Given the description of an element on the screen output the (x, y) to click on. 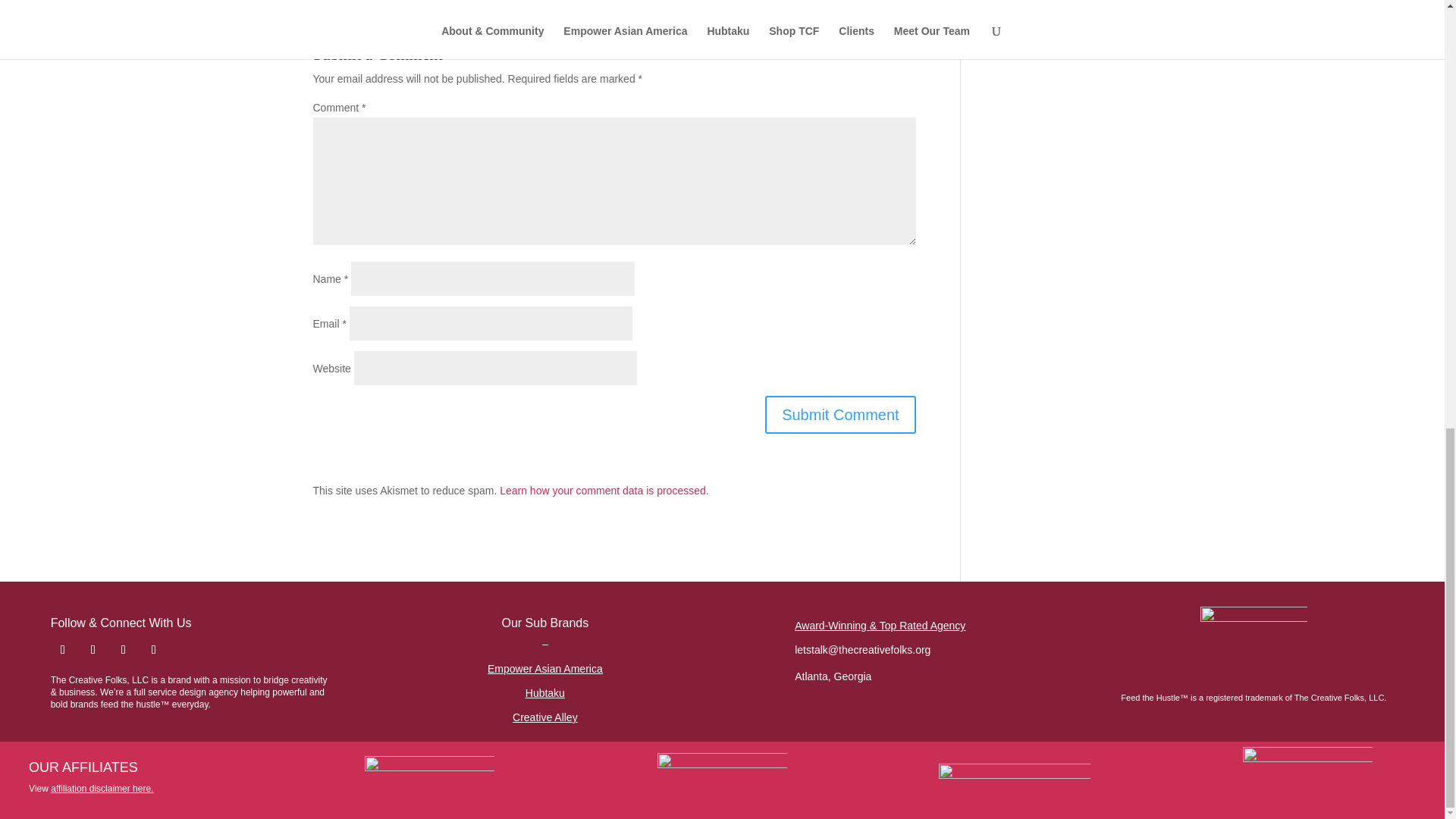
Creative Alley (545, 717)
Follow on Instagram (62, 649)
Hubtaku (544, 693)
Learn how your comment data is processed (602, 490)
FTH Round Script (1253, 642)
Submit Comment (840, 414)
Empower Asian America (544, 668)
Follow on LinkedIn (123, 649)
affiliation disclaimer here. (101, 787)
siteground-logo-white-transparent-400x81 (1014, 778)
Follow on Youtube (153, 649)
Submit Comment (840, 414)
Follow on TikTok (92, 649)
